Given the description of an element on the screen output the (x, y) to click on. 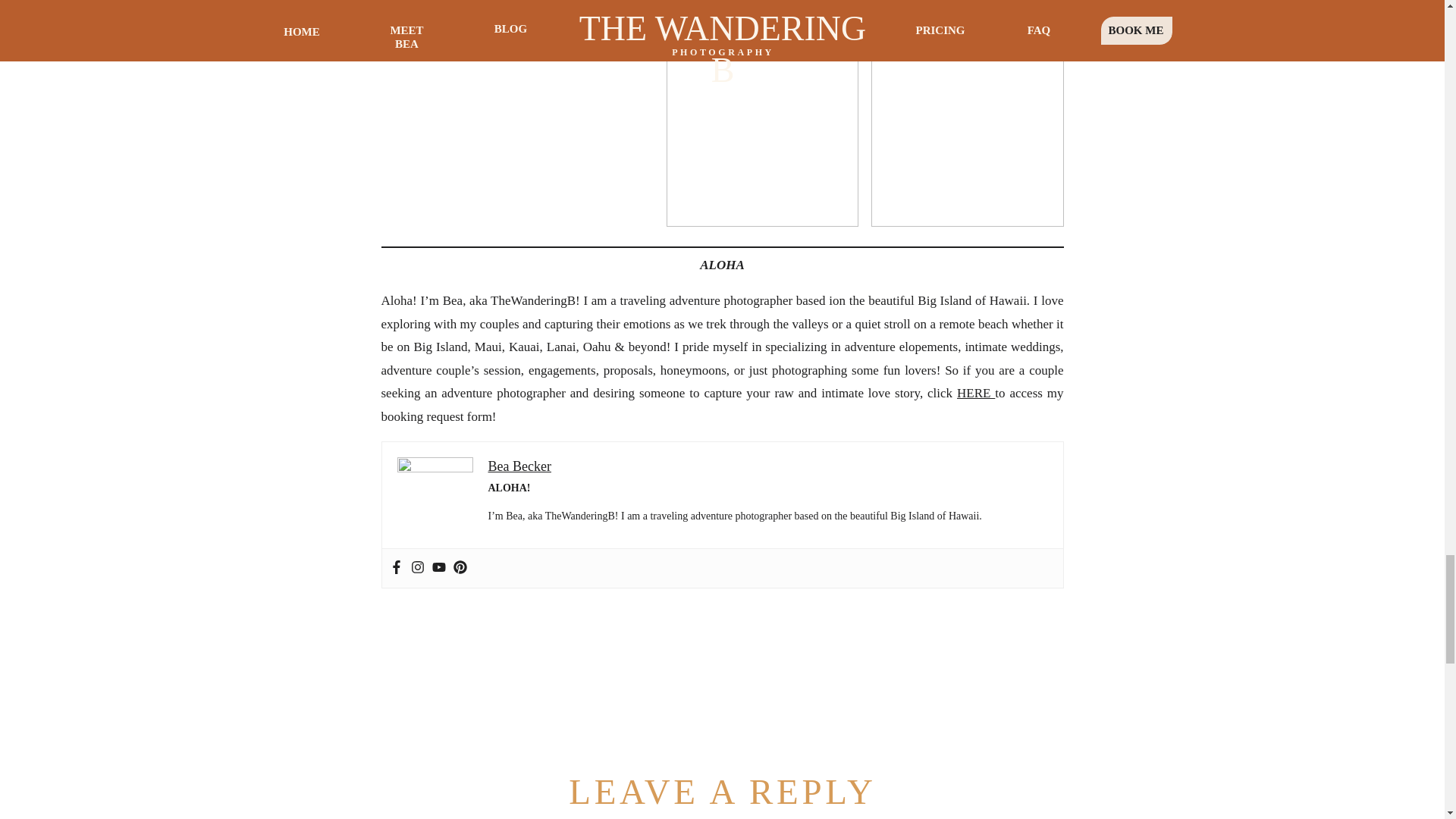
HERE (975, 392)
Bea Becker (519, 466)
